Given the description of an element on the screen output the (x, y) to click on. 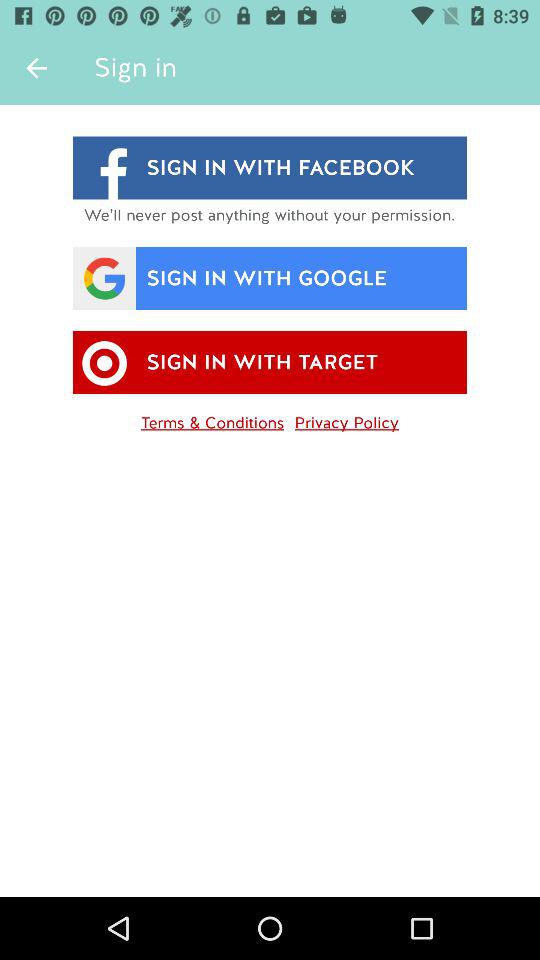
open item next to the privacy policy (212, 419)
